Given the description of an element on the screen output the (x, y) to click on. 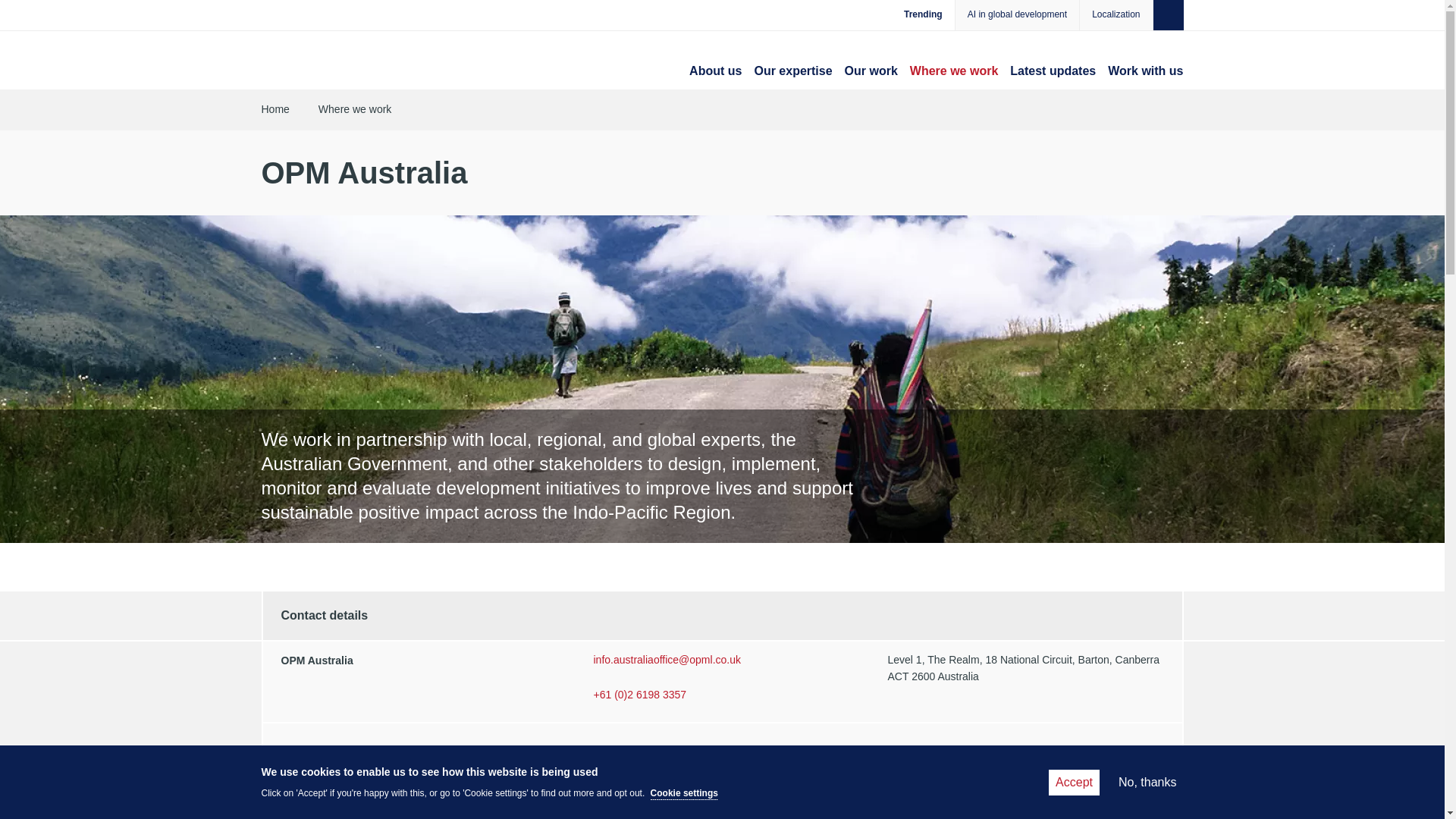
Latest updates (1053, 70)
Skip to main content (24, 12)
Our latest insights, publications, podcasts, and events. (1053, 70)
Our work (871, 70)
Where we work (953, 70)
Return to the homepage (325, 64)
Our expertise (792, 70)
About us (714, 70)
